Given the description of an element on the screen output the (x, y) to click on. 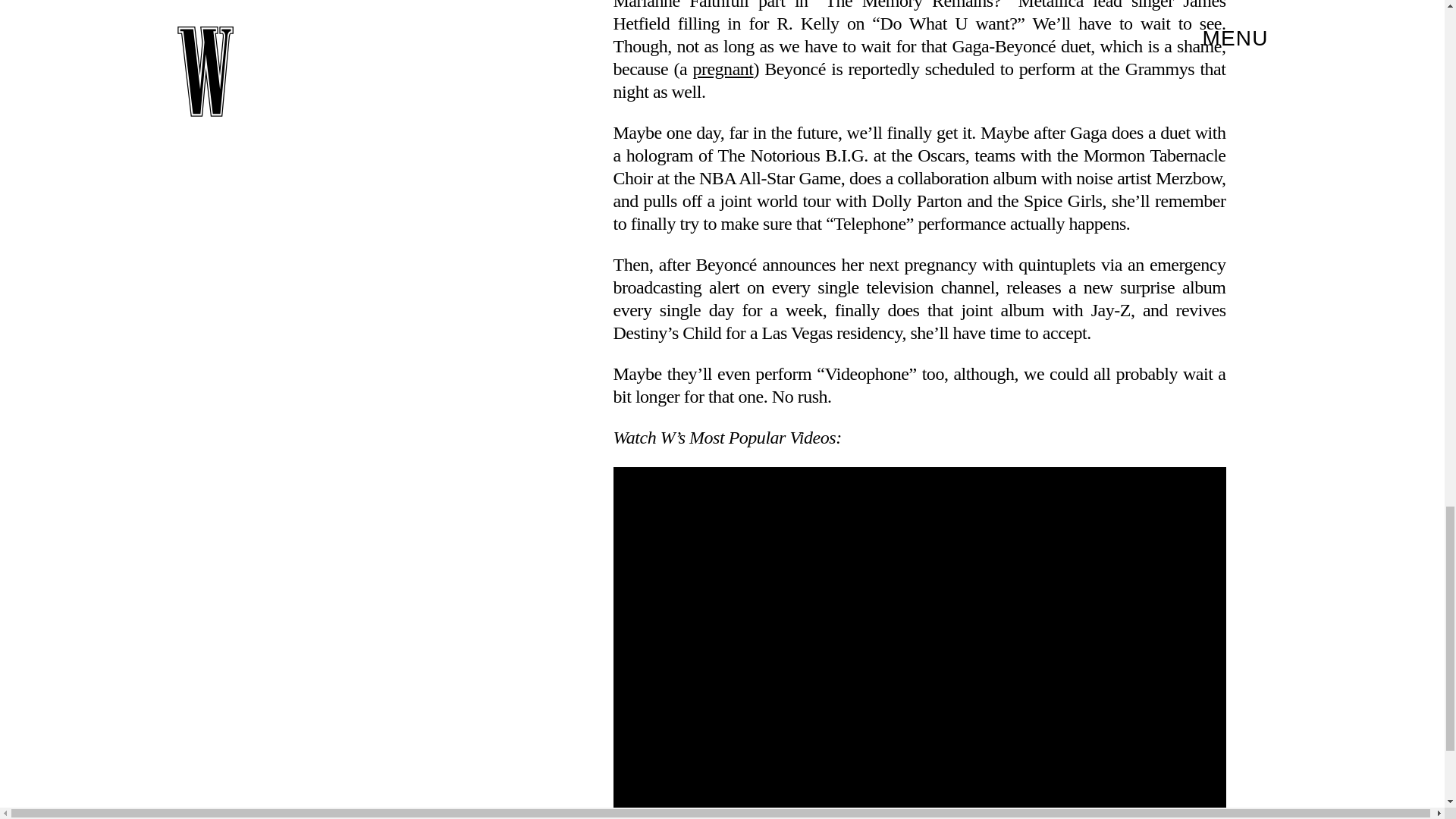
pregnant (722, 68)
